Given the description of an element on the screen output the (x, y) to click on. 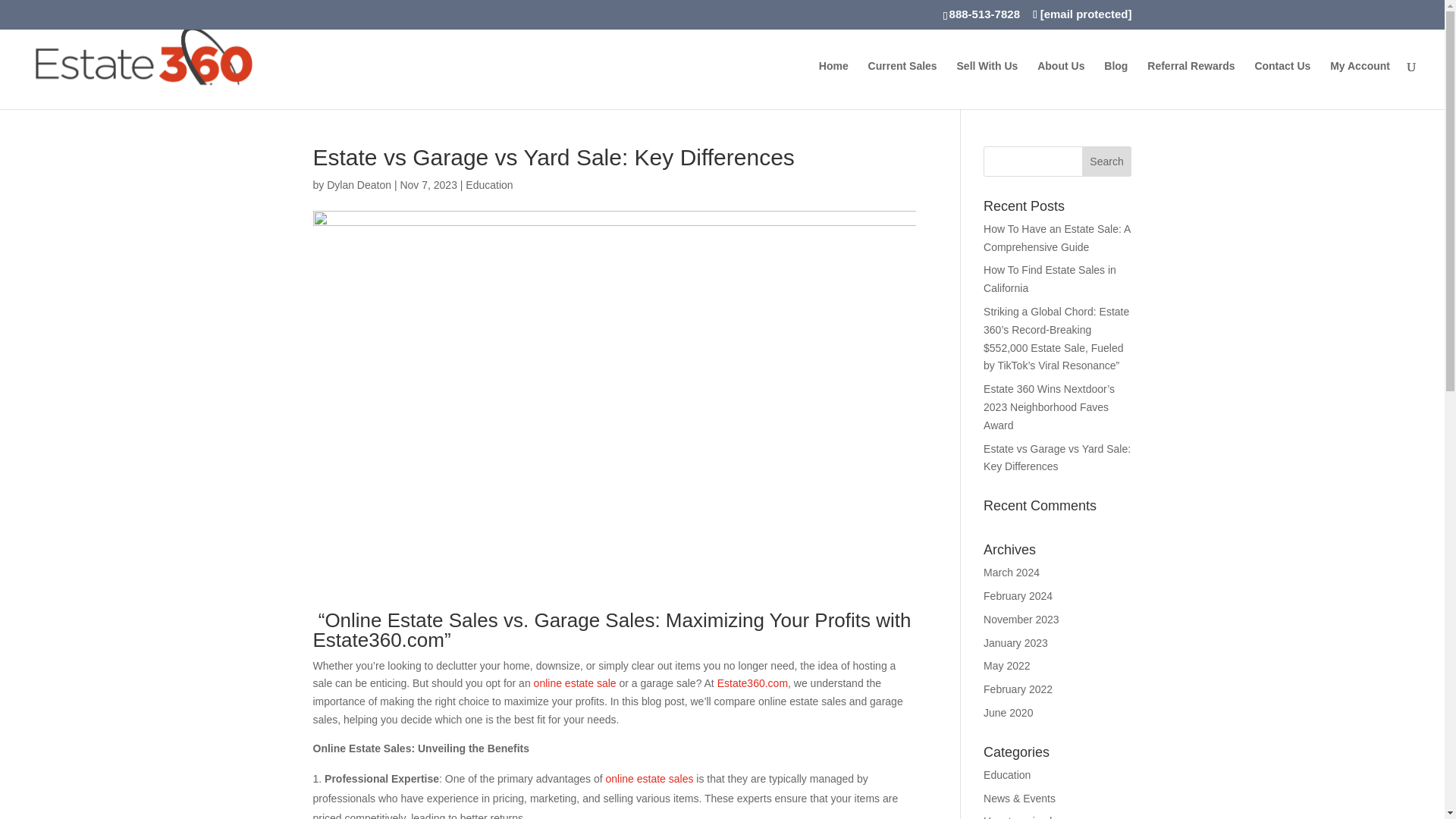
About Us (1060, 84)
online estate sale (574, 683)
How To Find Estate Sales in California (1050, 278)
Estate360.com (752, 683)
online estate sales (649, 778)
February 2024 (1018, 595)
Sell With Us (986, 84)
Dylan Deaton (358, 184)
June 2020 (1008, 712)
Search (1106, 161)
